Given the description of an element on the screen output the (x, y) to click on. 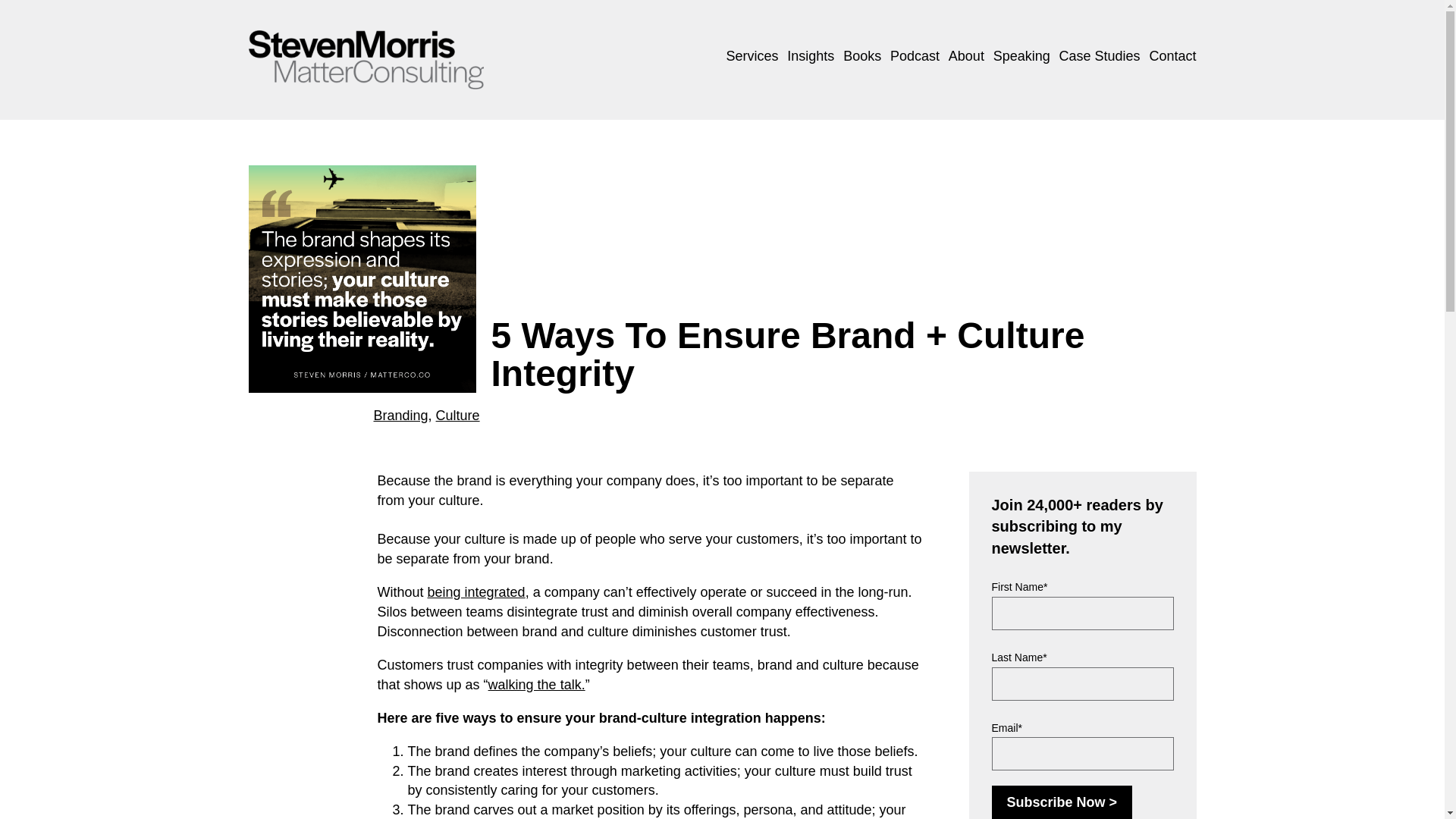
Books (861, 59)
Services (752, 59)
walking the talk. (536, 684)
being integrated (476, 591)
Culture (457, 415)
Branding (400, 415)
Contact (1171, 59)
Speaking (1020, 59)
Insights (810, 59)
About (966, 59)
Podcast (914, 59)
Case Studies (1099, 59)
